Given the description of an element on the screen output the (x, y) to click on. 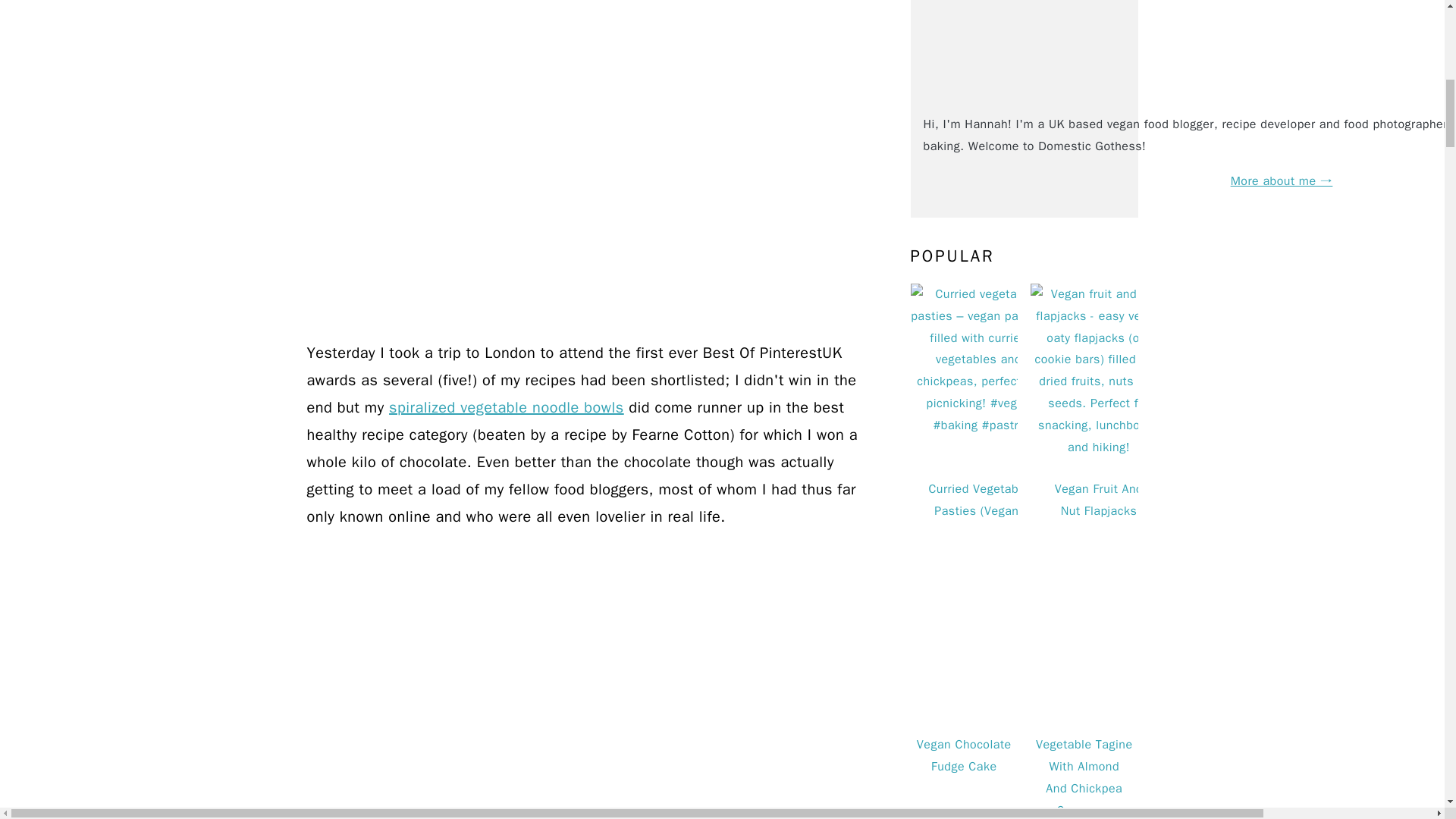
spiralized vegetable noodle bowls (506, 407)
